Given the description of an element on the screen output the (x, y) to click on. 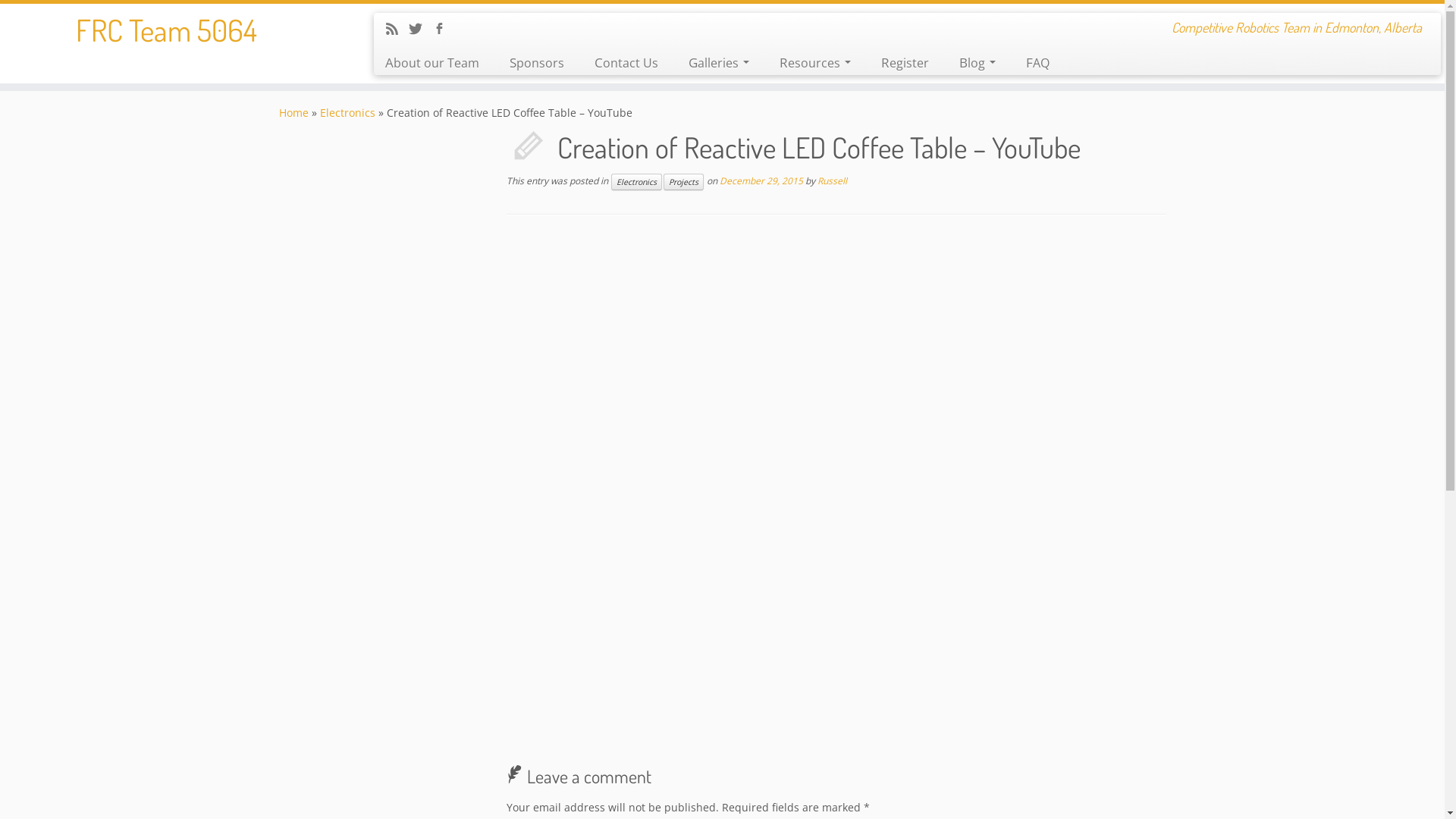
Russell Element type: text (832, 180)
Projects Element type: text (682, 181)
Resources Element type: text (815, 62)
Subscribe to my rss feed Element type: hover (396, 30)
Sponsors Element type: text (536, 62)
Register Element type: text (905, 62)
Follow me on Facebook Element type: hover (443, 30)
Electronics Element type: text (347, 112)
Blog Element type: text (977, 62)
Follow me on Twitter Element type: hover (420, 30)
Electronics Element type: text (636, 181)
FRC Team 5064 Element type: text (166, 29)
December 29, 2015 Element type: text (760, 180)
FAQ Element type: text (1029, 62)
About our Team Element type: text (437, 62)
Home Element type: text (293, 112)
Contact Us Element type: text (626, 62)
Galleries Element type: text (718, 62)
